Given the description of an element on the screen output the (x, y) to click on. 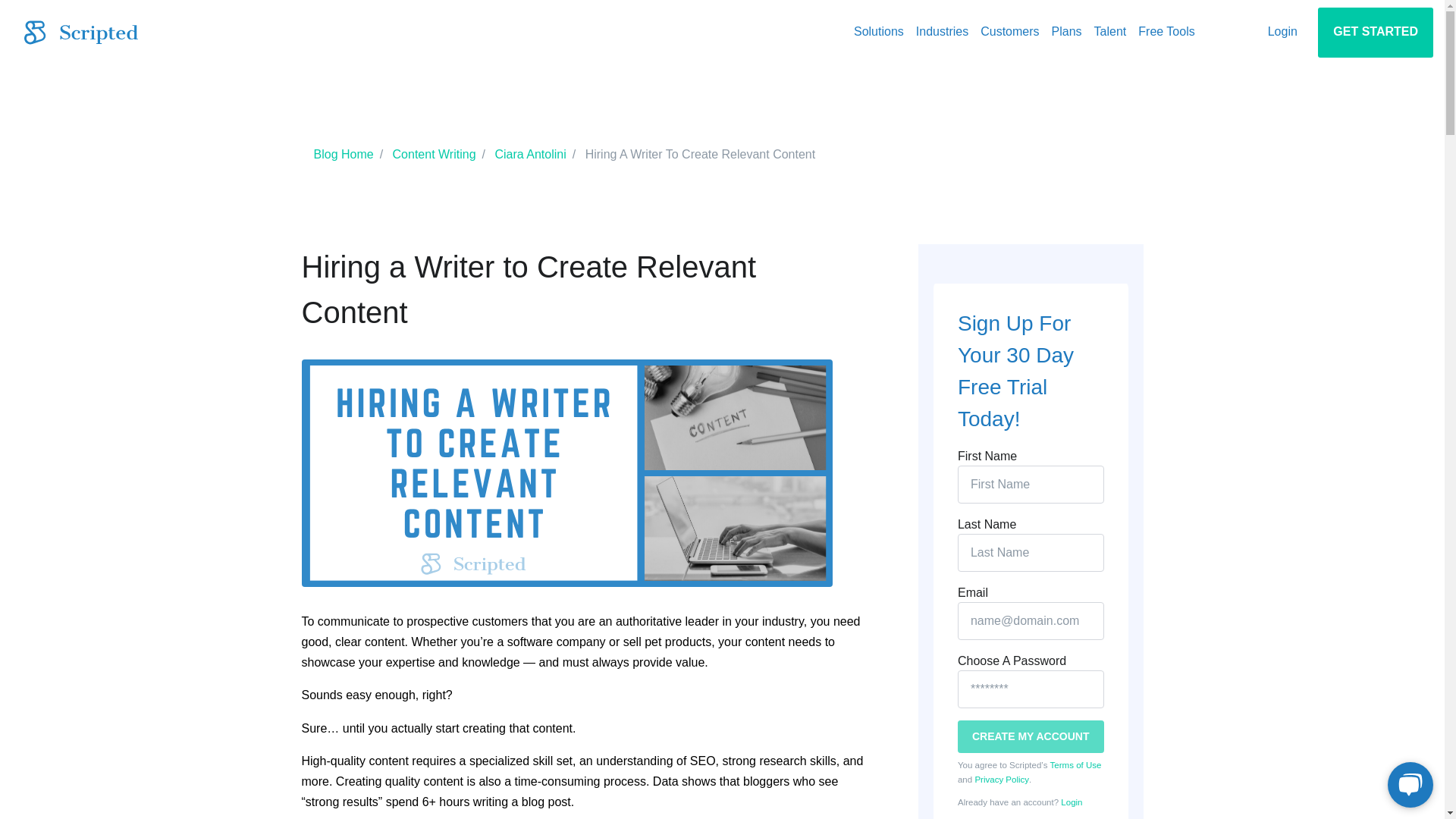
Solutions (878, 32)
Customers (1009, 32)
GET STARTED (1374, 32)
Free Tools (1165, 32)
Talent (1109, 32)
Login (1282, 32)
CREATE MY ACCOUNT (1030, 736)
Plans (1066, 32)
Industries (942, 32)
